Given the description of an element on the screen output the (x, y) to click on. 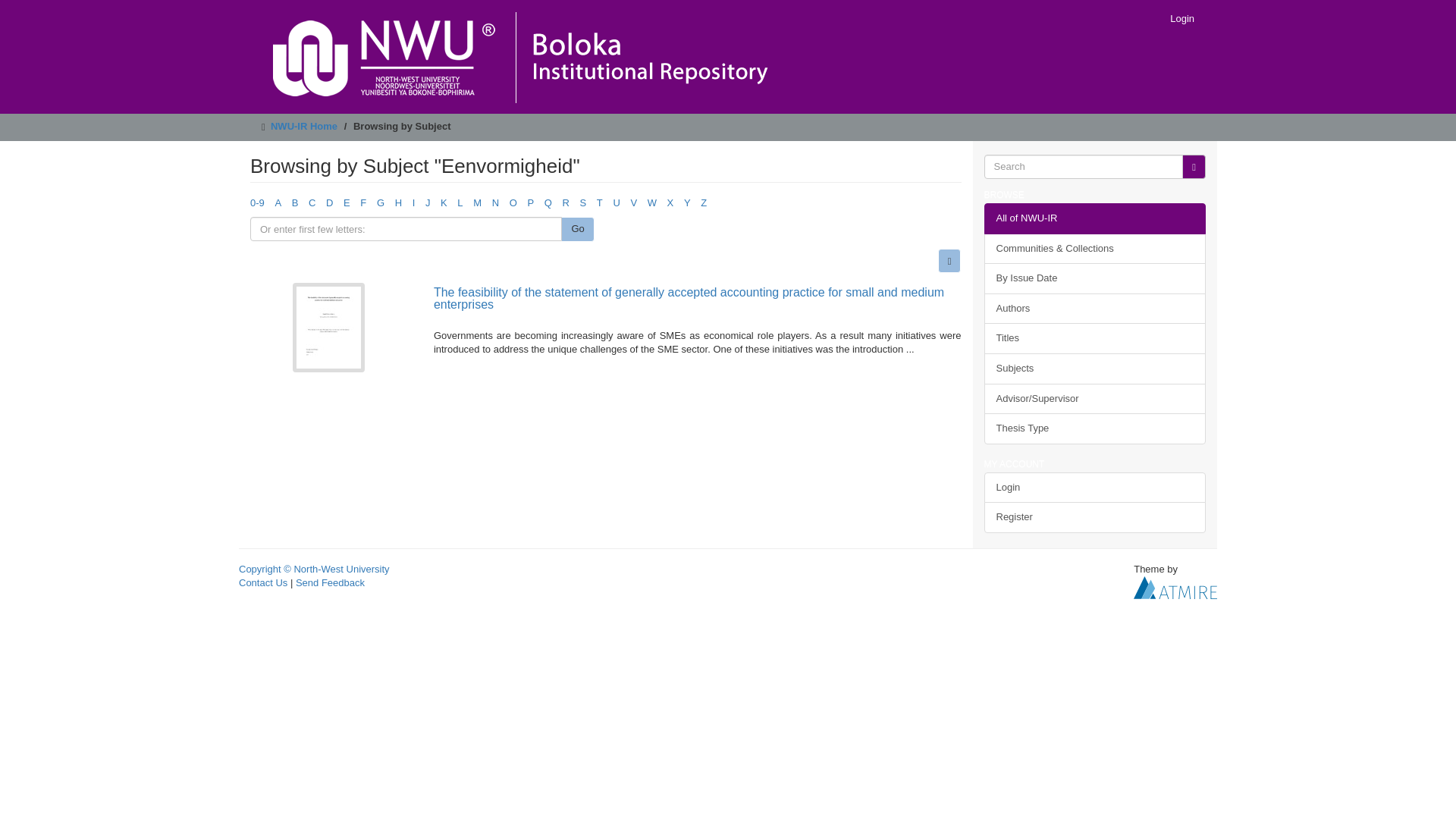
Atmire NV (1175, 586)
0-9 (257, 202)
Login (1181, 18)
Go (1193, 166)
Go (577, 229)
Browse for items that begin with these letters (406, 228)
NWU-IR Home (303, 125)
